Given the description of an element on the screen output the (x, y) to click on. 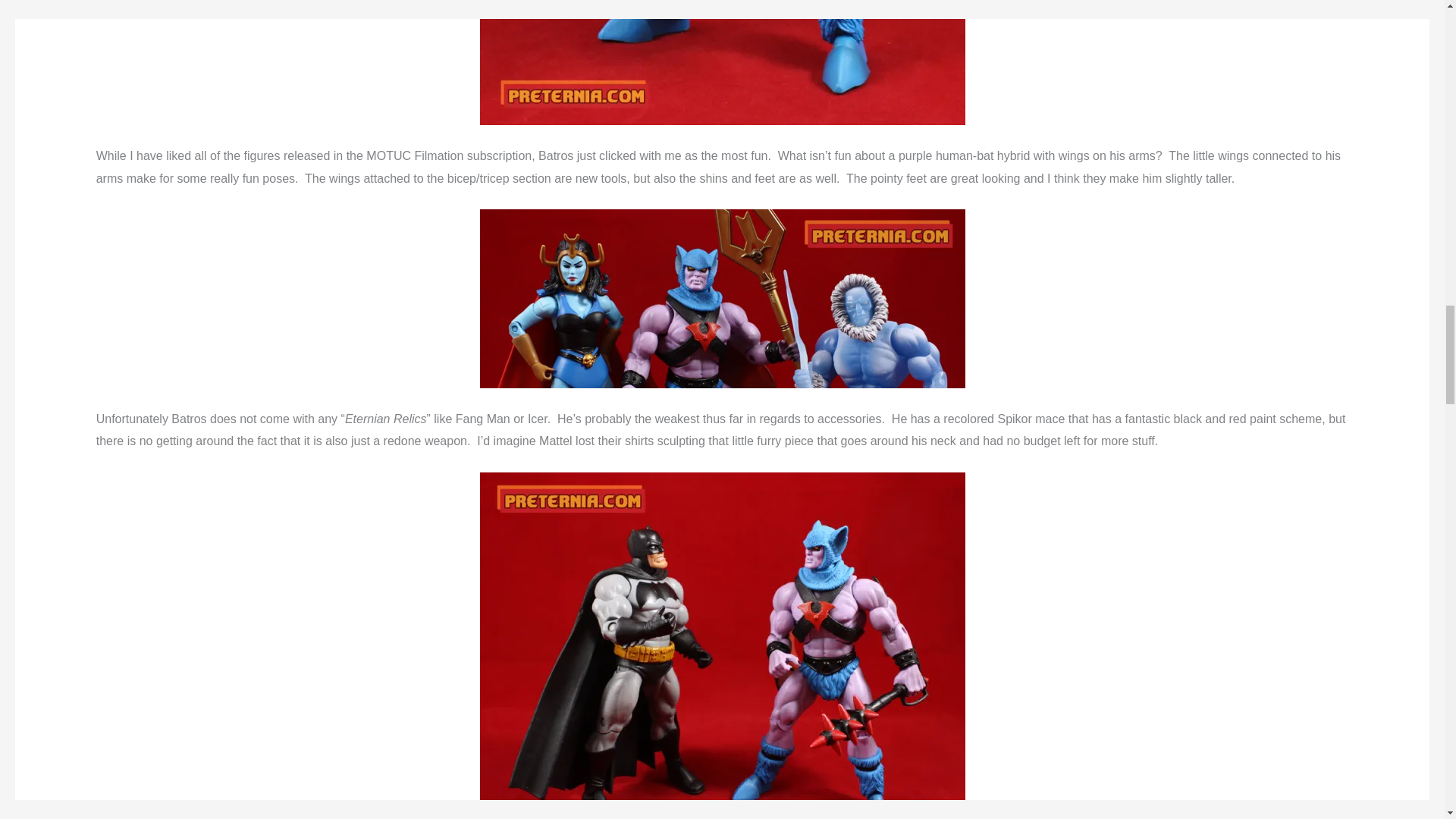
Mattel MOTUC Batros Club Filmation Review (721, 298)
Mattel MOTUC Batros Club Filmation Review (721, 62)
